Given the description of an element on the screen output the (x, y) to click on. 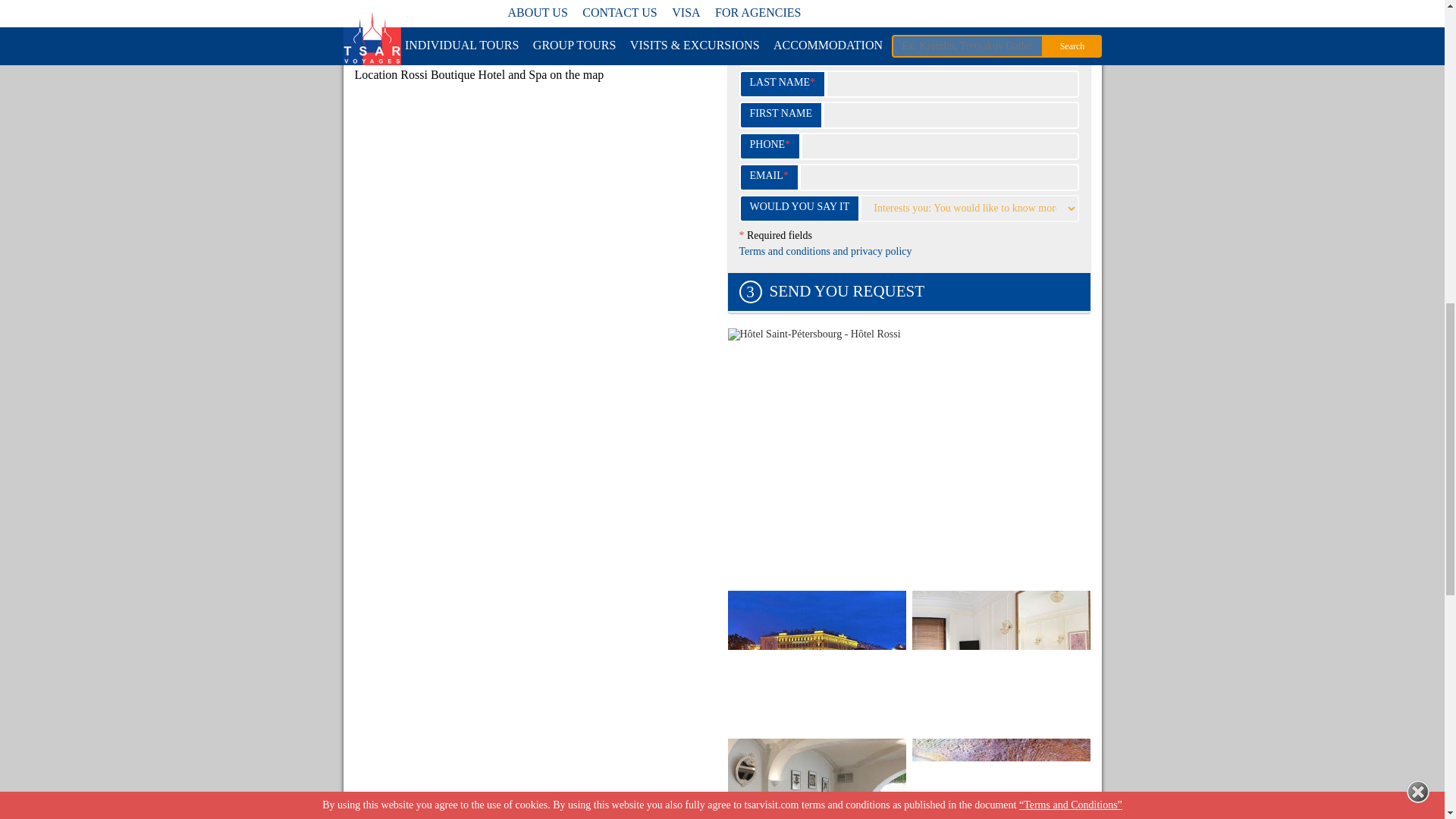
Rossi (1000, 661)
Rossi (816, 778)
